Given the description of an element on the screen output the (x, y) to click on. 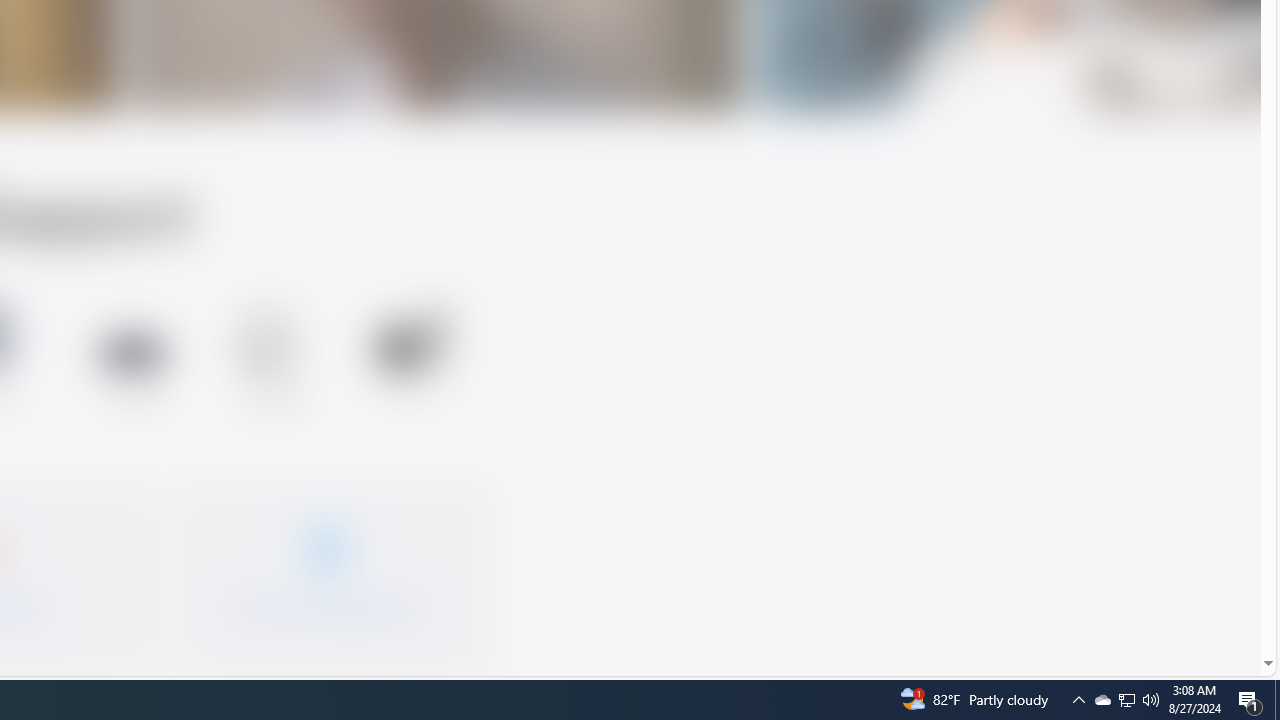
Billing and subscriptions (326, 570)
TV Support (412, 358)
Apple Vision Pro Support (132, 358)
AirPods Support (272, 362)
